Given the description of an element on the screen output the (x, y) to click on. 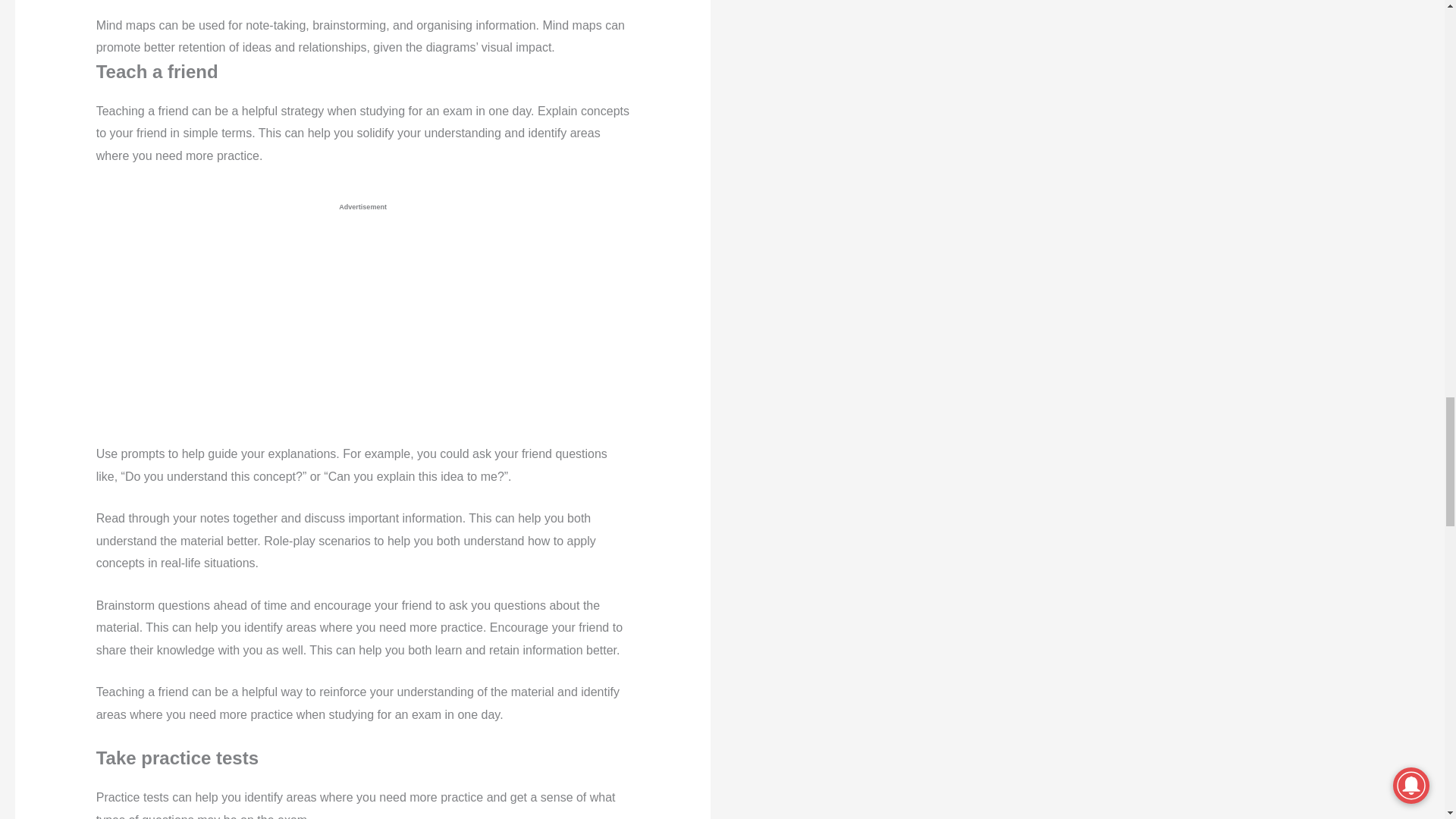
Advertisement (338, 330)
